Given the description of an element on the screen output the (x, y) to click on. 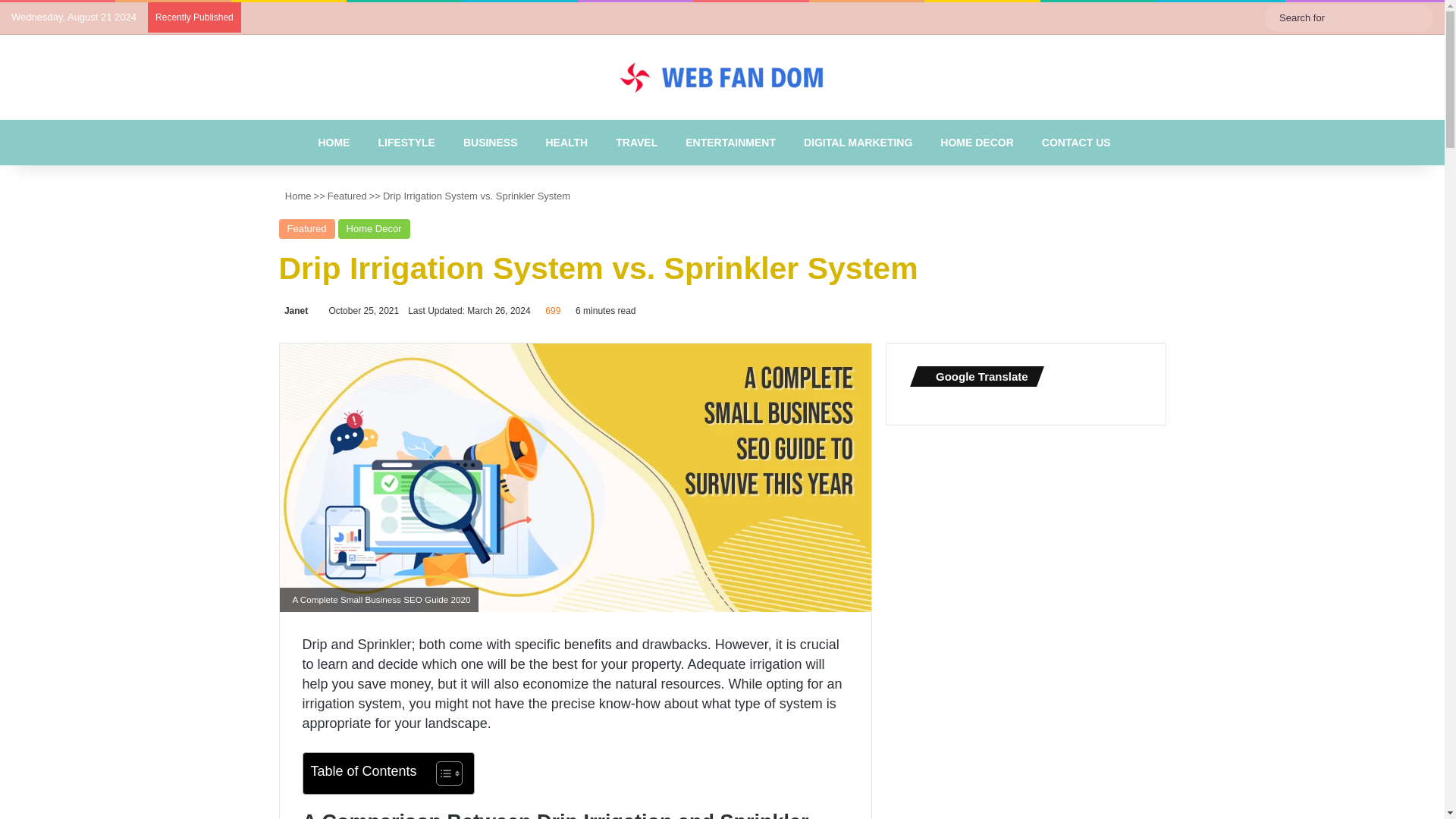
DIGITAL MARKETING (854, 142)
HOME DECOR (973, 142)
ENTERTAINMENT (727, 142)
Home (295, 195)
BUSINESS (486, 142)
Janet (293, 310)
HEALTH (562, 142)
Featured (306, 229)
HOME (329, 142)
Janet (293, 310)
